Given the description of an element on the screen output the (x, y) to click on. 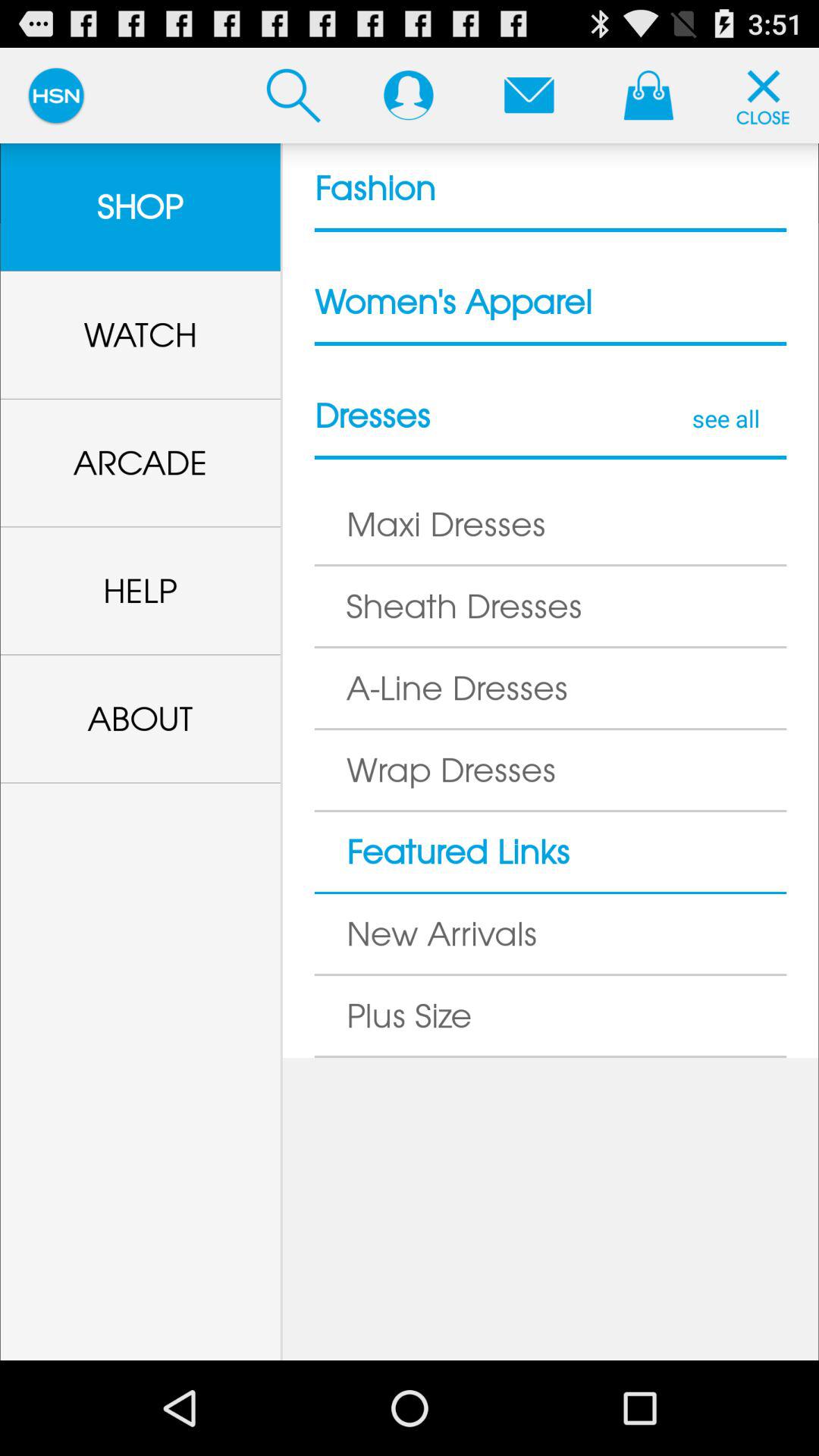
nova mensagem (529, 95)
